Given the description of an element on the screen output the (x, y) to click on. 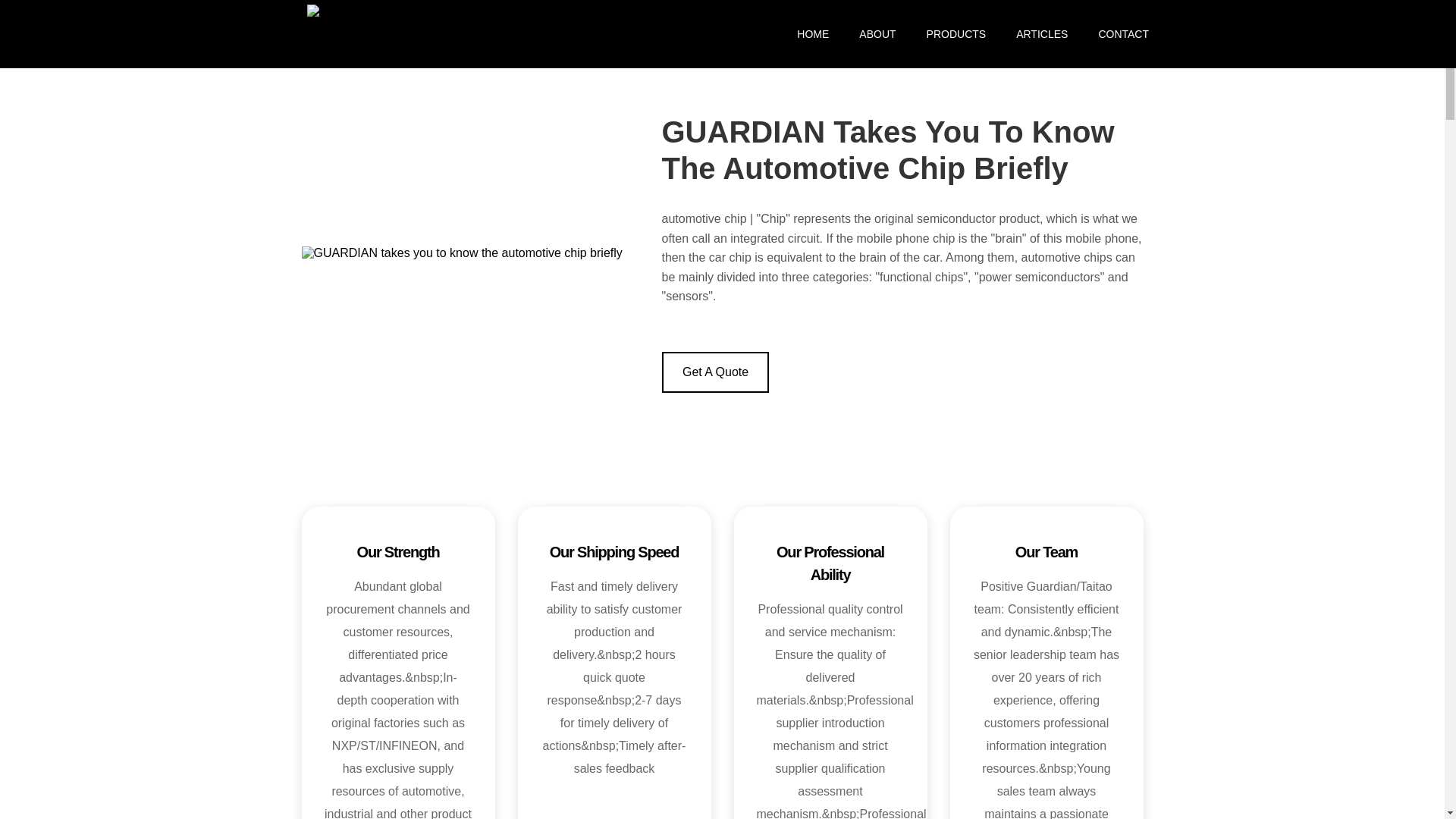
Get A Quote (714, 372)
Back To Home (344, 10)
HOME (812, 33)
ABOUT (877, 33)
ARTICLES (1042, 33)
CONTACT (1115, 33)
Get A Quote (714, 372)
PRODUCTS (956, 33)
